Given the description of an element on the screen output the (x, y) to click on. 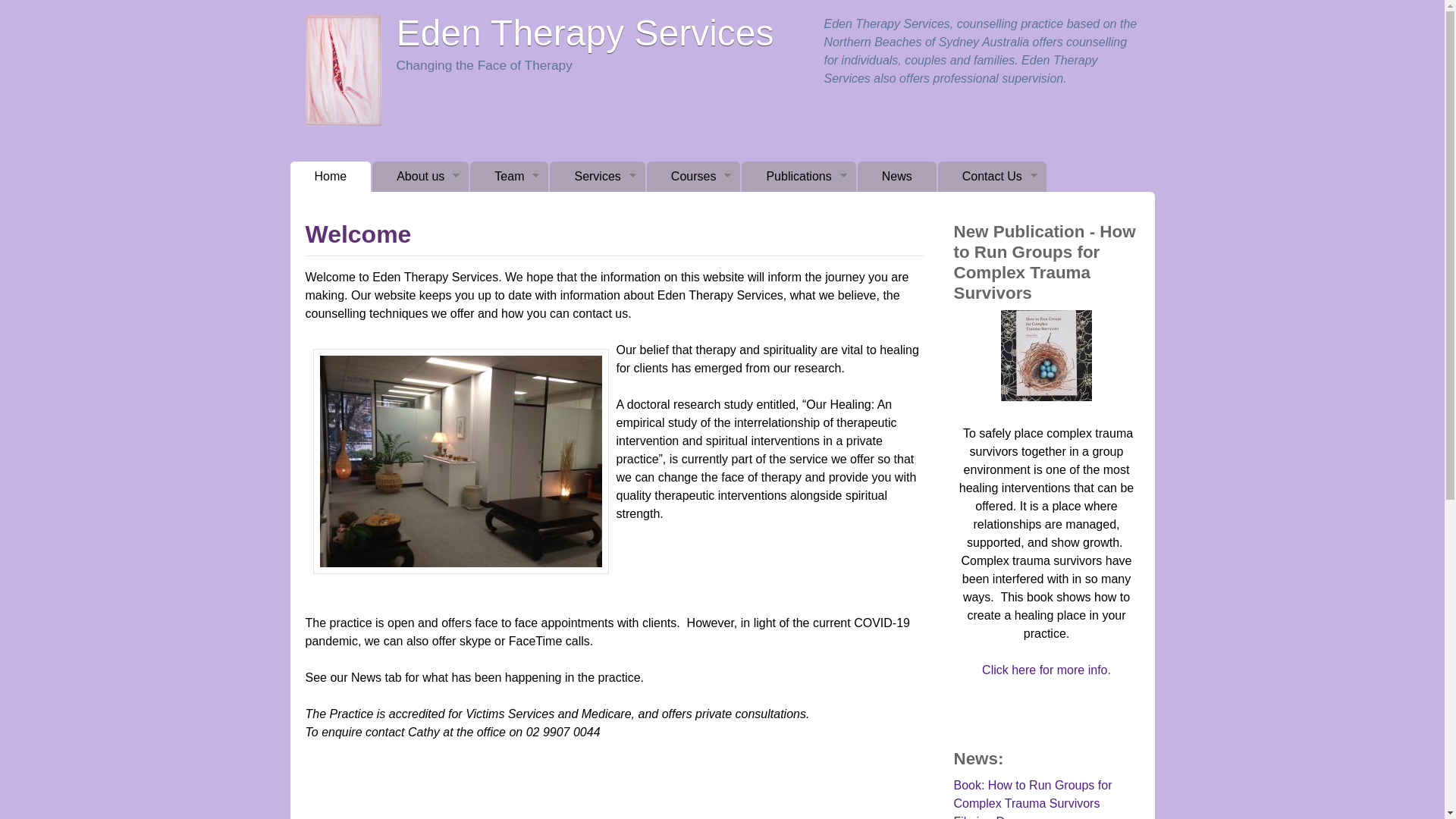
Eden Therapy Services Element type: text (584, 32)
Skip to main content Element type: text (704, 0)
News Element type: text (896, 176)
Book: How to Run Groups for Complex Trauma Survivors Element type: text (1032, 793)
Click here for more info. Element type: text (1046, 669)
Home Element type: text (329, 176)
